Given the description of an element on the screen output the (x, y) to click on. 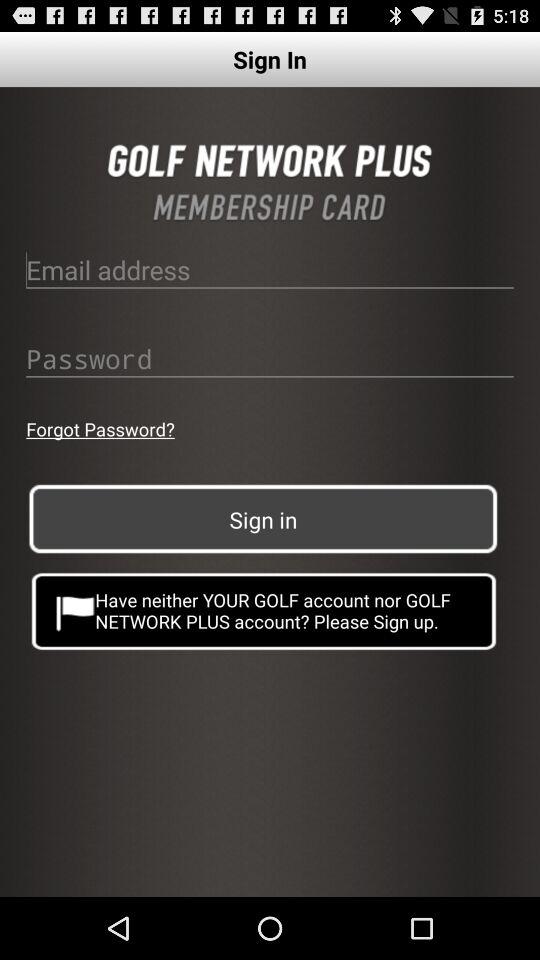
enter email id (269, 269)
